Given the description of an element on the screen output the (x, y) to click on. 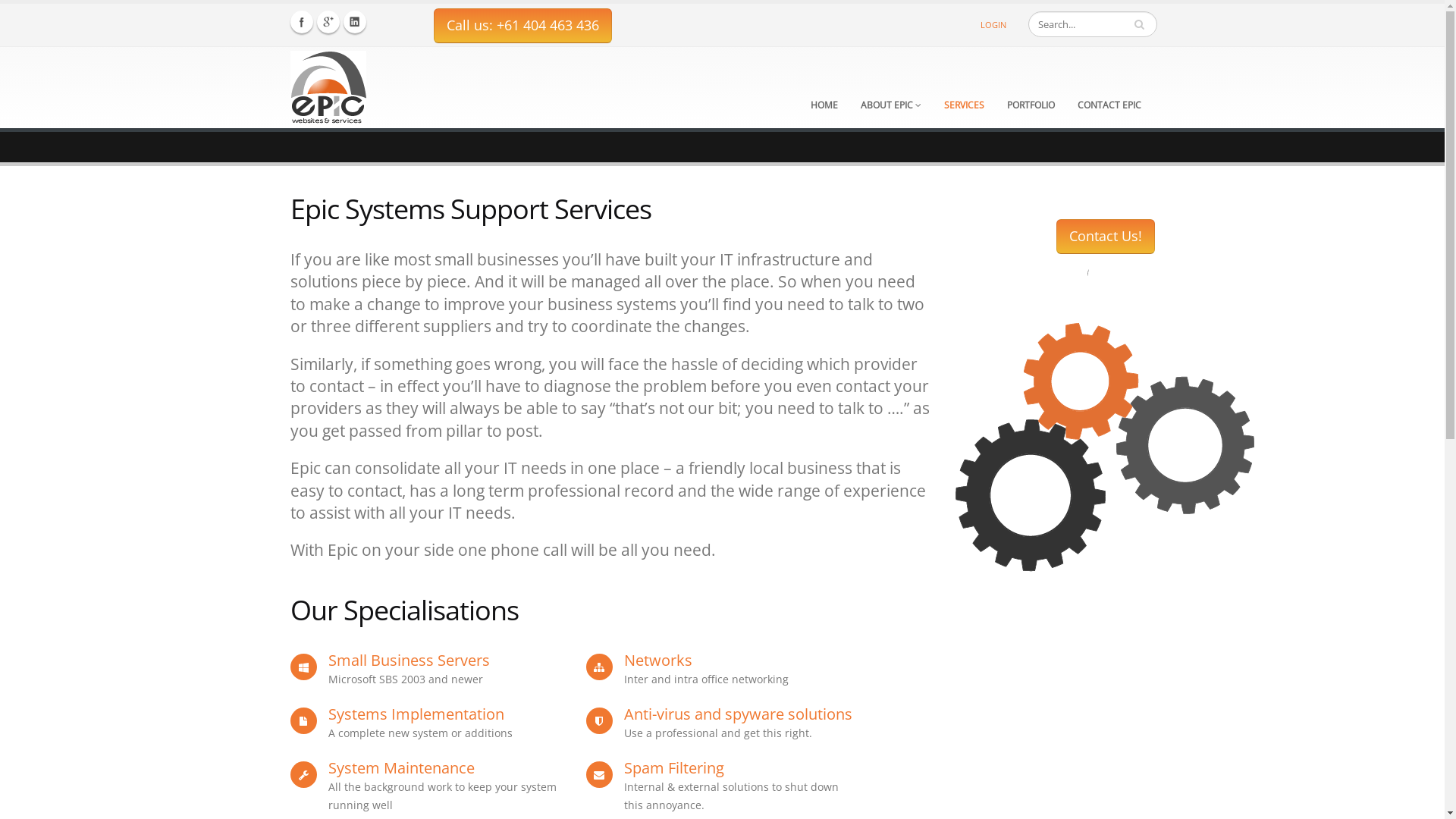
Twitter Element type: text (327, 21)
Call us: +61 404 463 436 Element type: text (522, 25)
HOME Element type: text (824, 93)
PORTFOLIO Element type: text (1029, 93)
CONTACT EPIC Element type: text (1109, 93)
LOGIN Element type: text (992, 24)
  Element type: text (1140, 24)
SERVICES Element type: text (963, 93)
Linkedin Element type: text (353, 21)
ABOUT EPIC Element type: text (890, 93)
Contact Us! Element type: text (1104, 236)
Facebook Element type: text (300, 21)
